Given the description of an element on the screen output the (x, y) to click on. 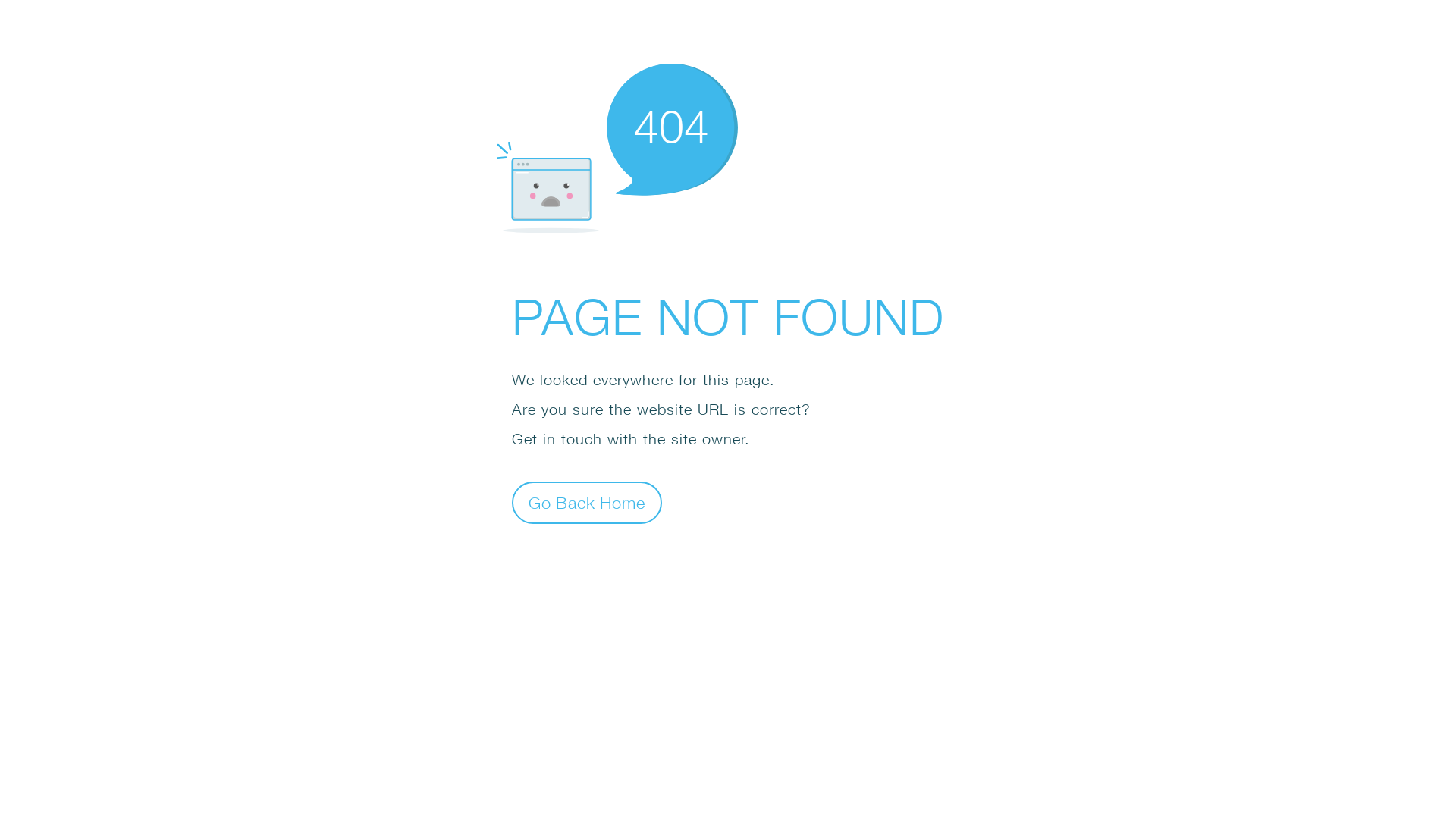
Go Back Home Element type: text (586, 502)
